Given the description of an element on the screen output the (x, y) to click on. 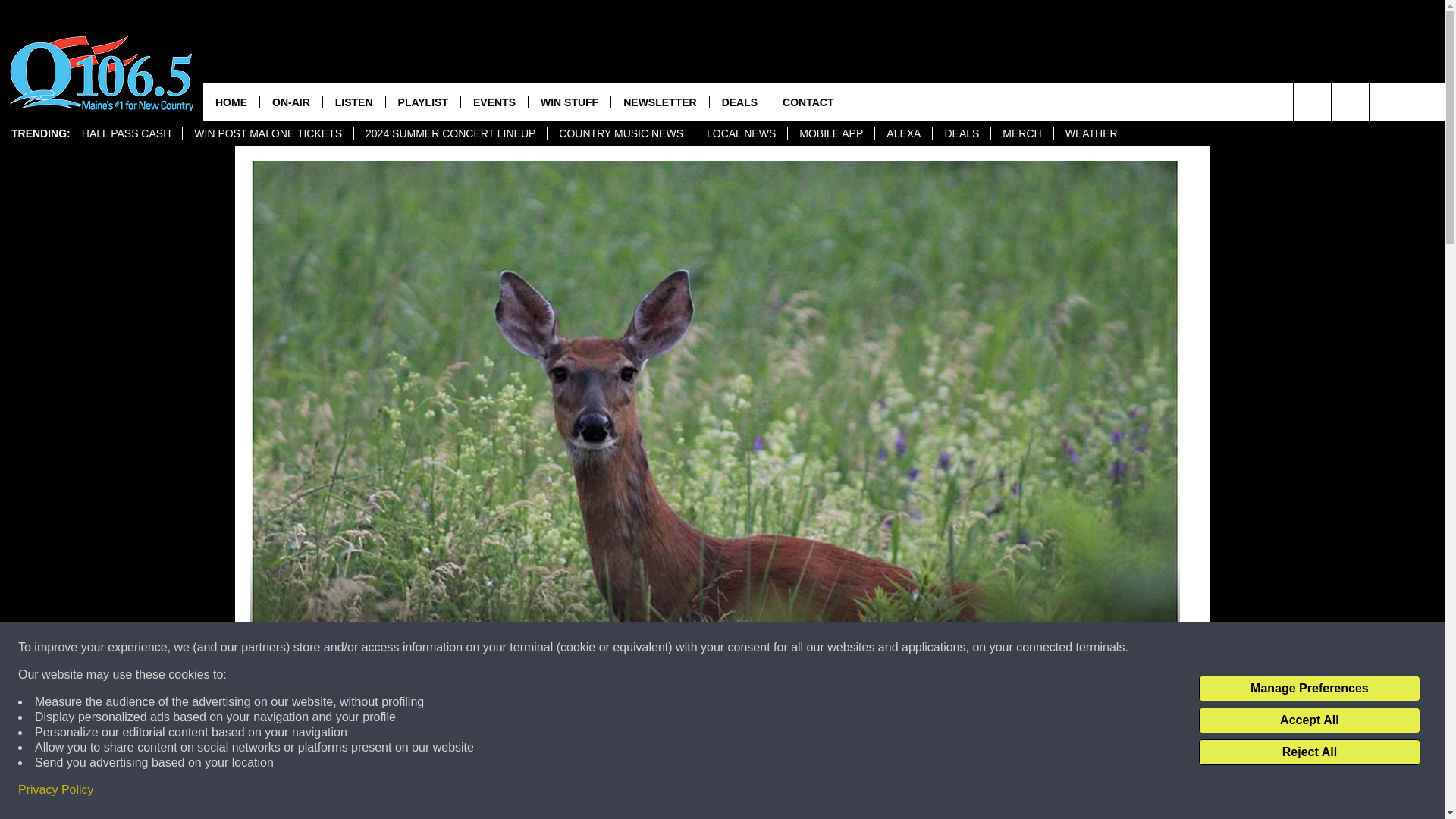
Reject All (1309, 751)
Privacy Policy (55, 789)
Share on Facebook (517, 791)
LISTEN (353, 102)
HALL PASS CASH (126, 133)
HOME (231, 102)
DEALS (960, 133)
2024 SUMMER CONCERT LINEUP (450, 133)
EVENTS (493, 102)
PLAYLIST (422, 102)
MERCH (1021, 133)
Manage Preferences (1309, 688)
WIN STUFF (568, 102)
ALEXA (903, 133)
ON-AIR (290, 102)
